Given the description of an element on the screen output the (x, y) to click on. 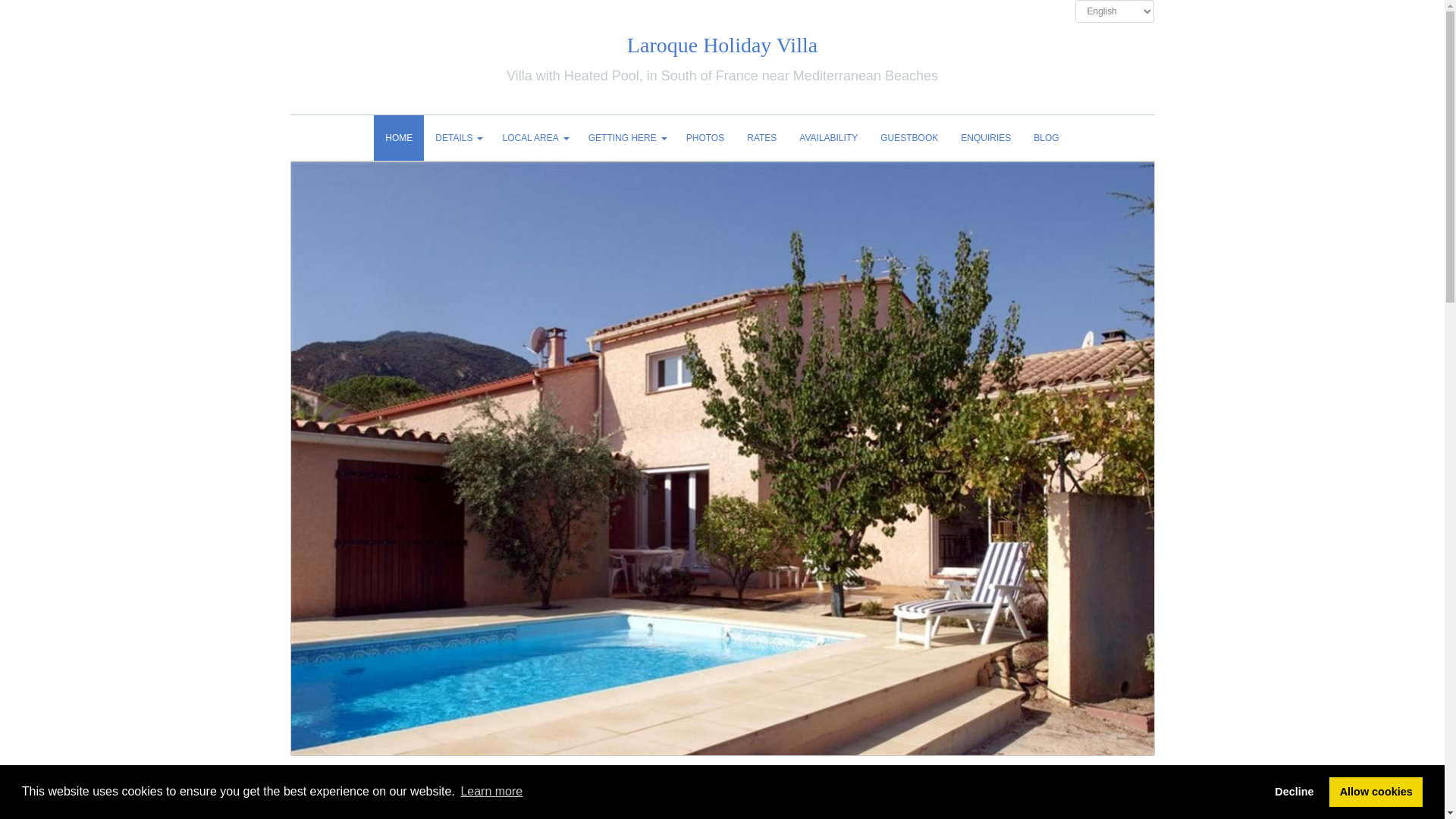
LOCAL AREA (533, 137)
BLOG (1046, 137)
Laroque Holiday Villa (721, 44)
PHOTOS (705, 137)
DETAILS (456, 137)
GETTING HERE (625, 137)
Allow cookies (1375, 791)
AVAILABILITY (828, 137)
GUESTBOOK (909, 137)
HOME (398, 137)
Learn more (491, 791)
Decline (1294, 791)
ENQUIRIES (985, 137)
RATES (761, 137)
